Given the description of an element on the screen output the (x, y) to click on. 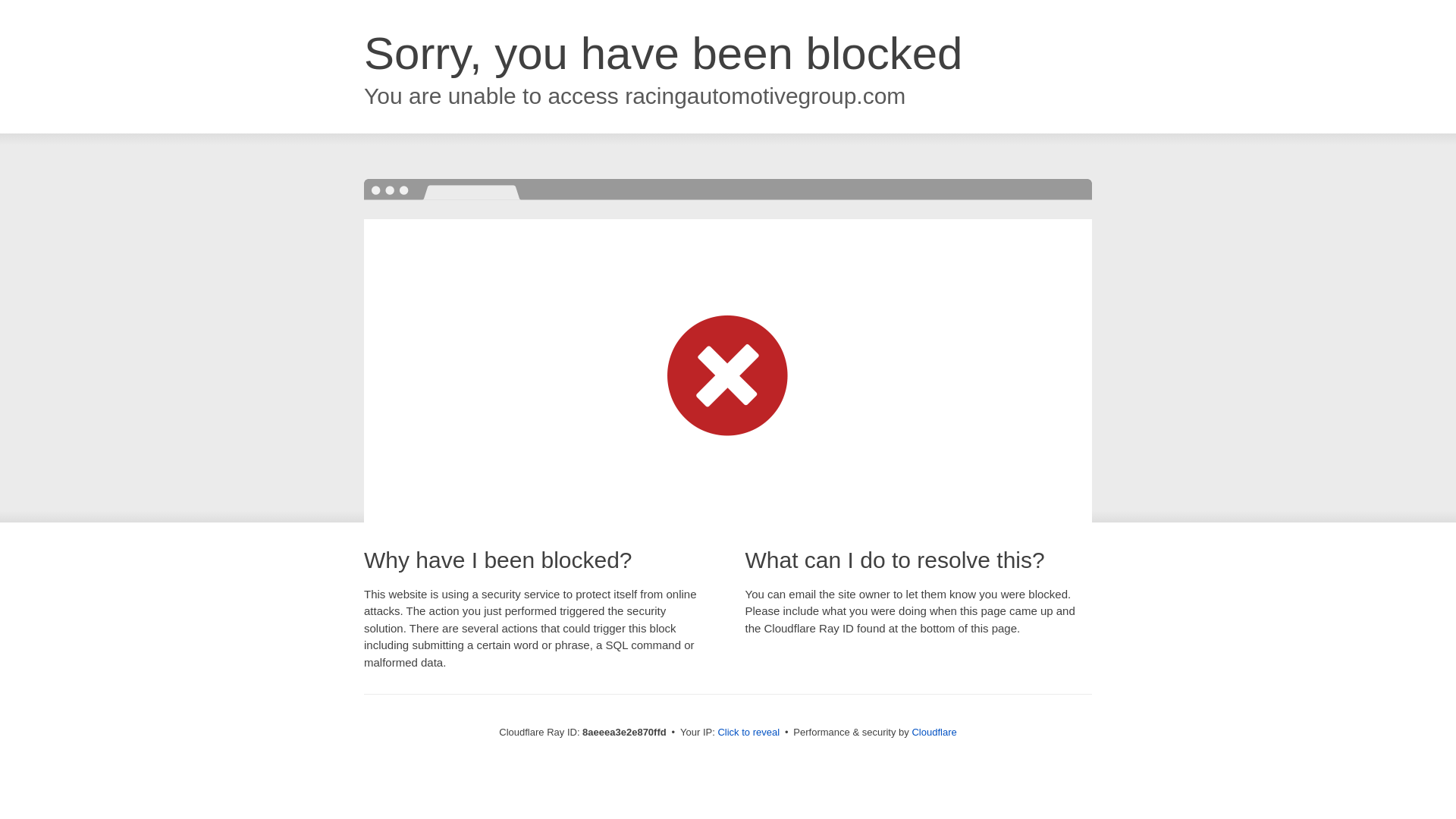
Cloudflare (933, 731)
Click to reveal (747, 732)
